Given the description of an element on the screen output the (x, y) to click on. 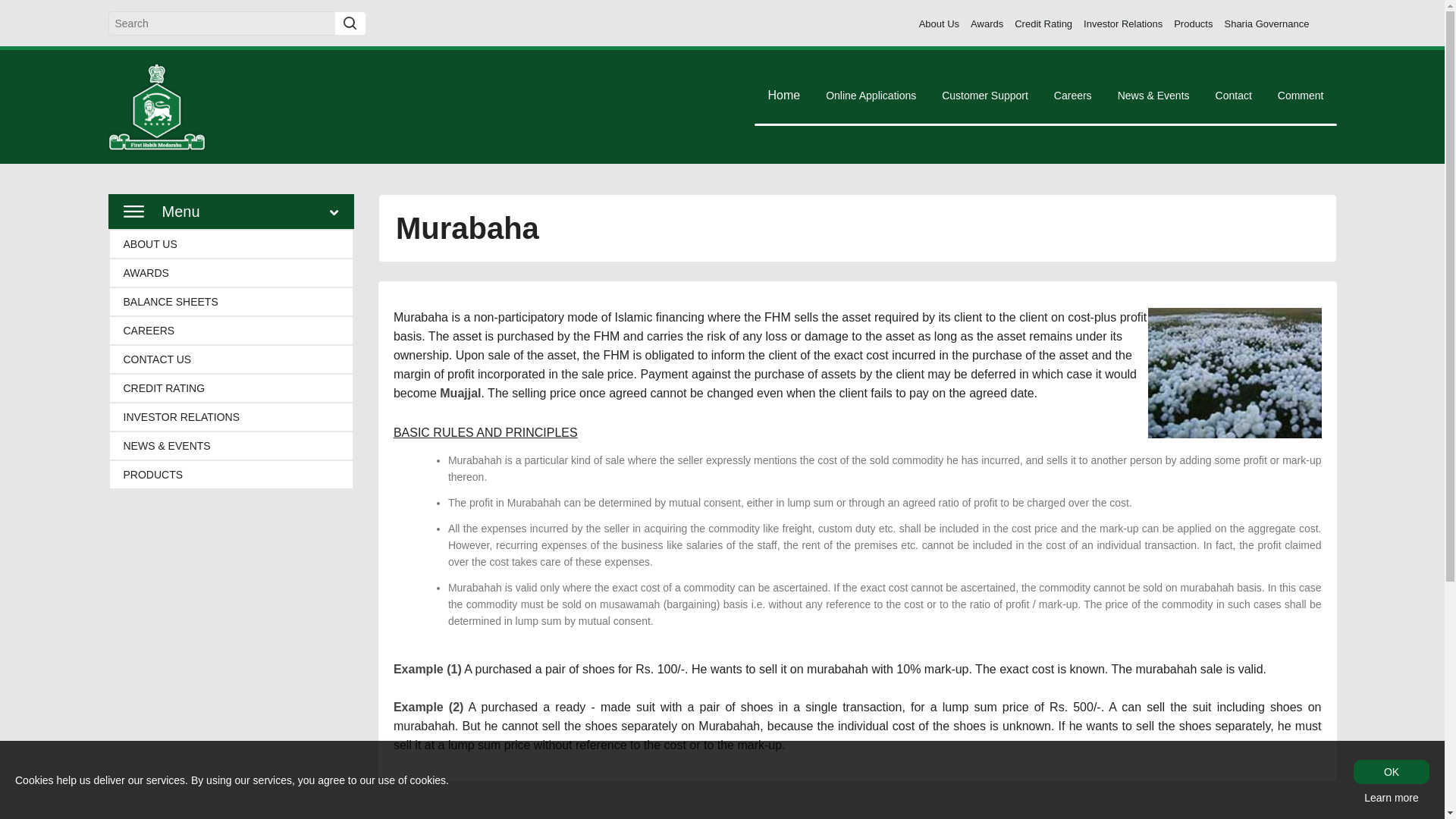
About Us (938, 24)
Awards (987, 24)
Credit Rating (1042, 24)
Products (1192, 24)
Investor Relations (1122, 24)
